Given the description of an element on the screen output the (x, y) to click on. 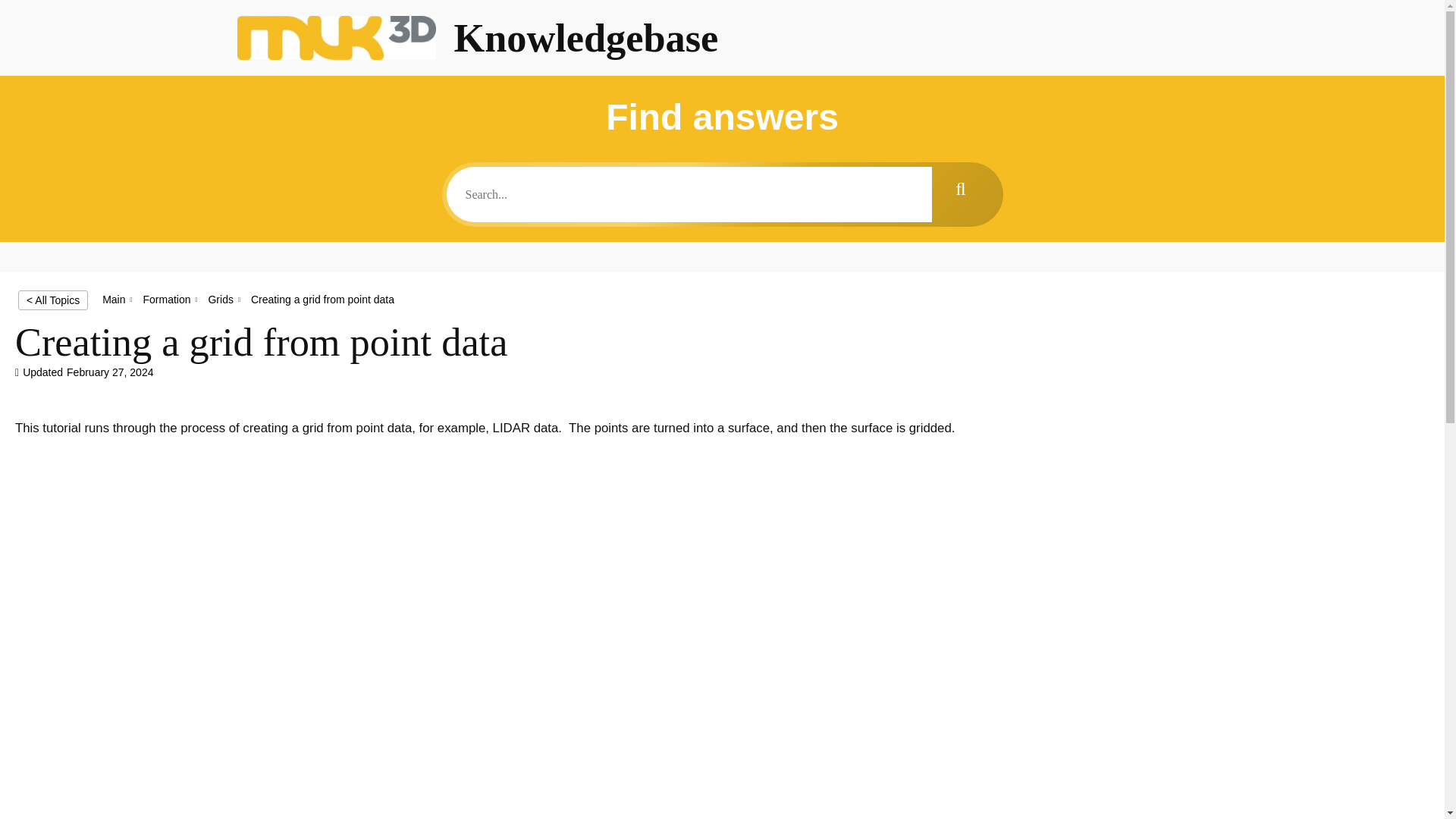
Grids (220, 299)
Main (113, 299)
Formation (166, 299)
Knowledgebase (584, 37)
